Given the description of an element on the screen output the (x, y) to click on. 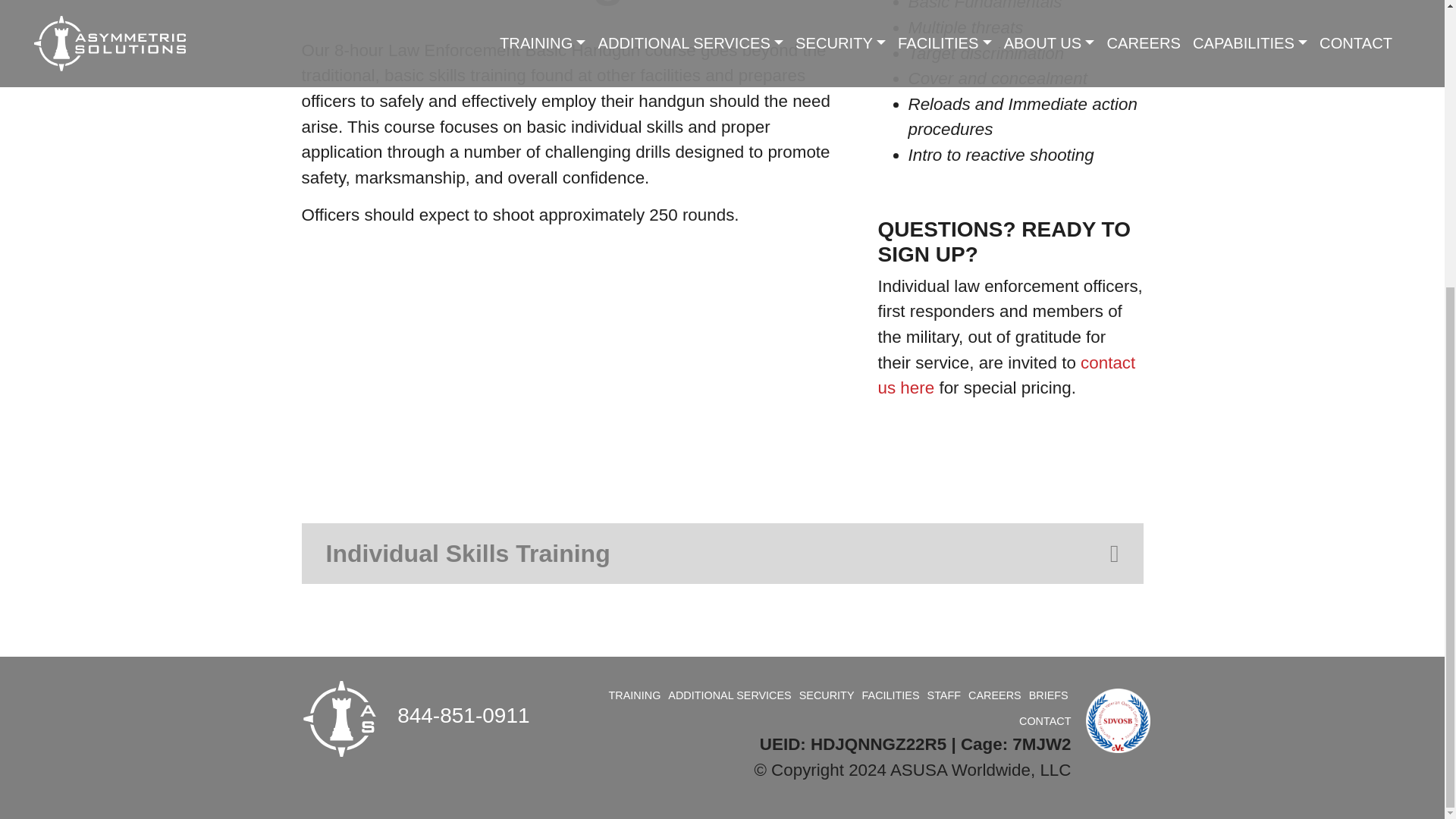
Security (826, 695)
AboutUs (943, 695)
Training (634, 695)
Home (338, 718)
Contact (1044, 720)
Briefs (1048, 695)
Additional Services (729, 695)
844-851-0911 (463, 715)
Facilities (890, 695)
Careers (995, 695)
